Given the description of an element on the screen output the (x, y) to click on. 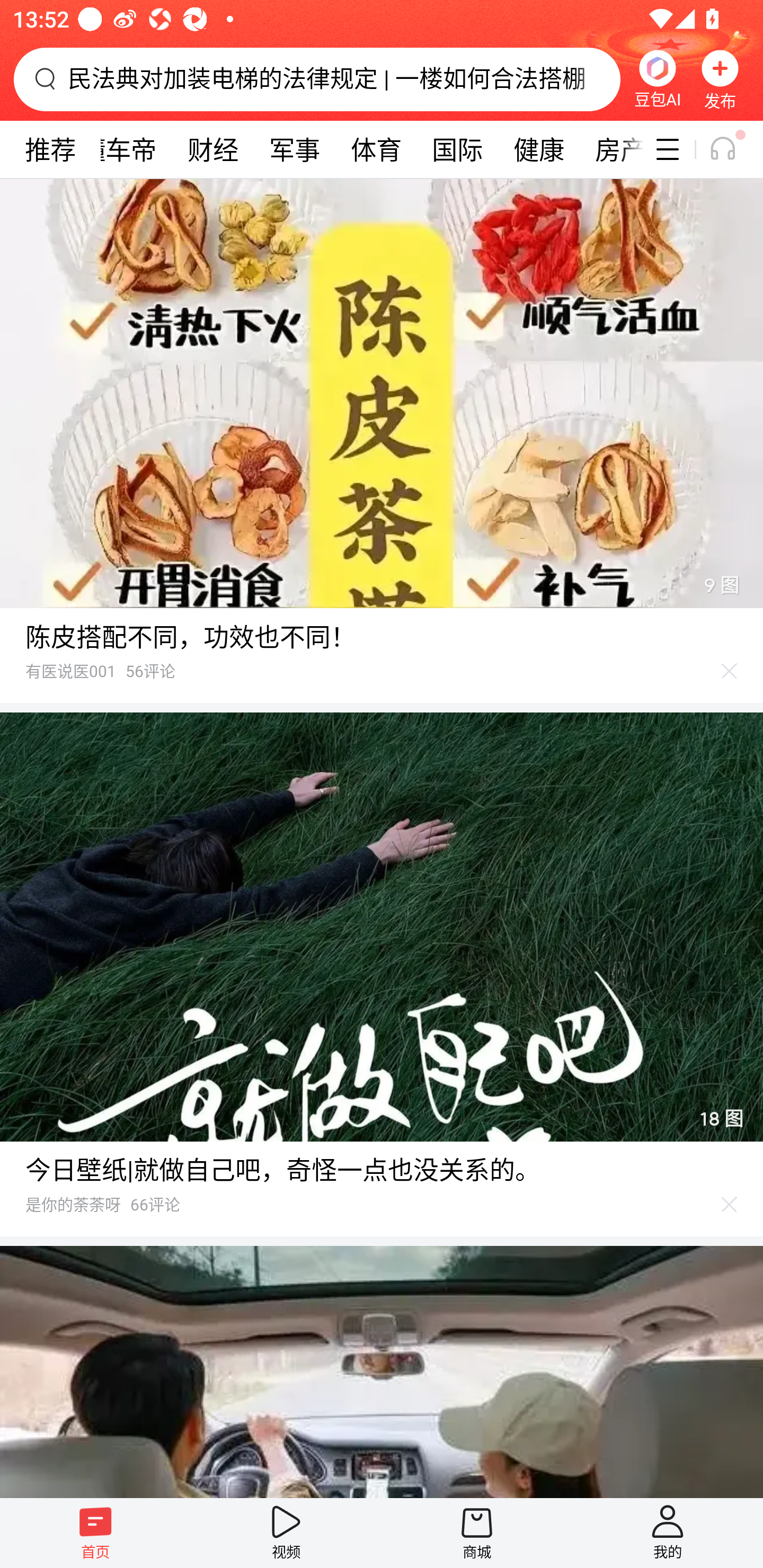
豆包AI AI回答，按钮 (657, 78)
发布 发布，按钮 (720, 78)
推荐 (49, 149)
财经 (212, 149)
军事 (294, 149)
体育 (376, 149)
国际 (457, 149)
健康 (538, 149)
房产 (611, 149)
听一听开关 (732, 149)
不感兴趣 (729, 670)
不感兴趣 (729, 1204)
首页 (95, 1532)
视频 (285, 1532)
商城 (476, 1532)
我的 (667, 1532)
